Given the description of an element on the screen output the (x, y) to click on. 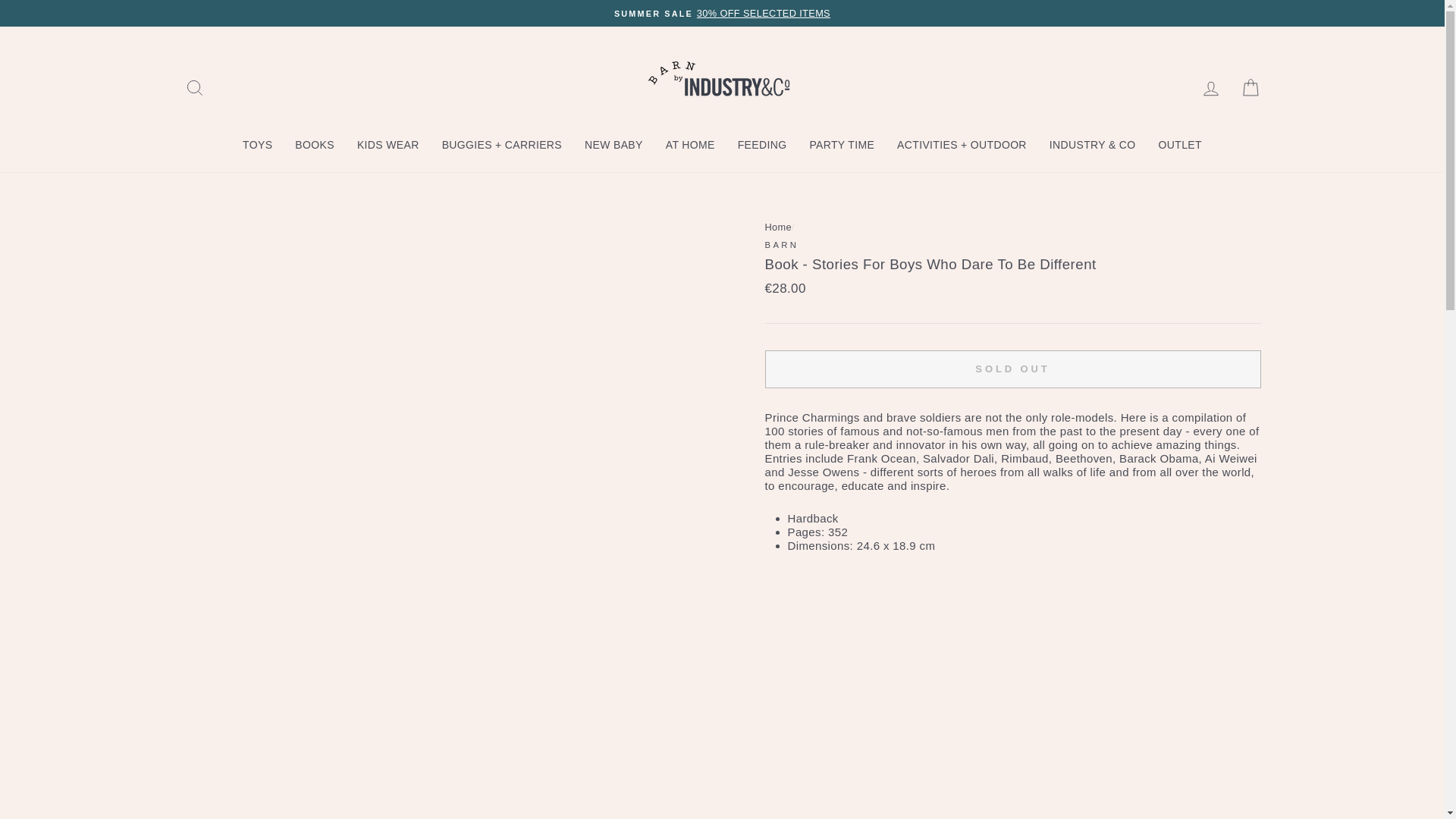
Barn (780, 244)
Back to the frontpage (778, 226)
